Given the description of an element on the screen output the (x, y) to click on. 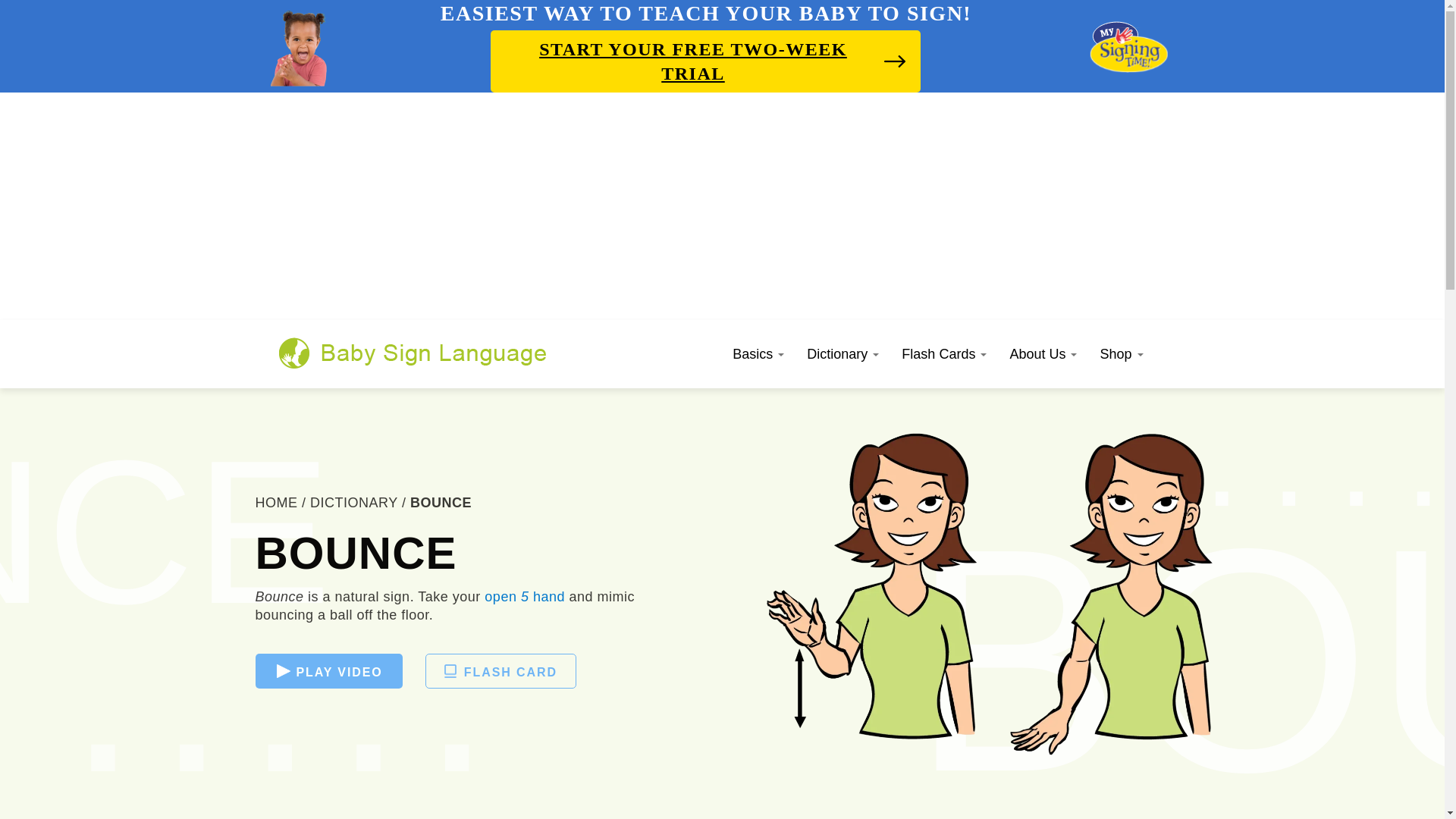
Basics (757, 353)
START YOUR FREE TWO-WEEK TRIAL (705, 61)
Baby Sign Language (413, 352)
Basics (757, 353)
Dictionary (841, 353)
Dictionary (841, 353)
About Us (1042, 353)
Flash Cards (943, 353)
